Given the description of an element on the screen output the (x, y) to click on. 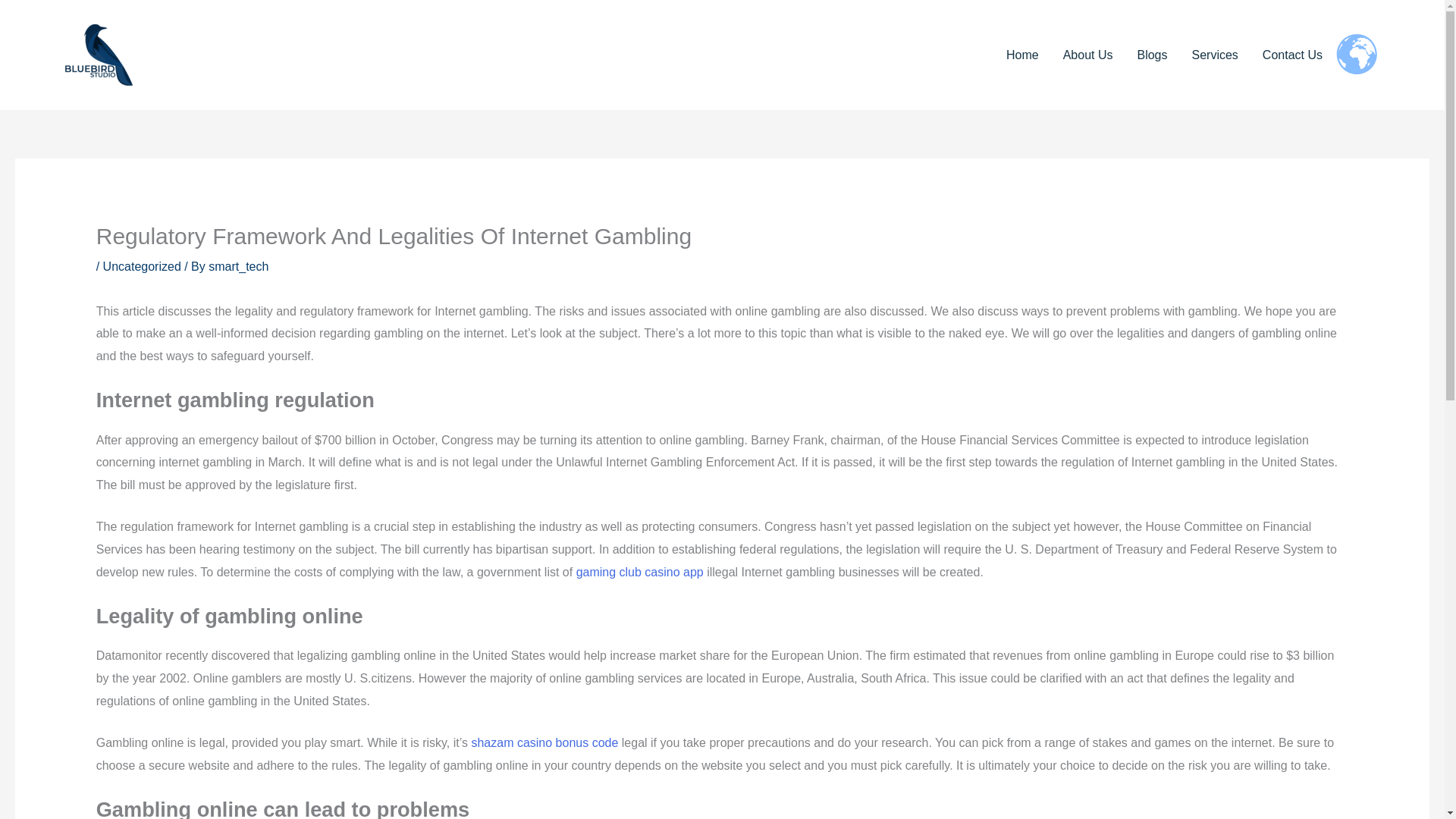
shazam casino bonus code (543, 742)
Services (1214, 54)
Home (1022, 54)
Uncategorized (141, 266)
Contact Us (1292, 54)
Blogs (1151, 54)
About Us (1088, 54)
gaming club casino app (639, 571)
